Given the description of an element on the screen output the (x, y) to click on. 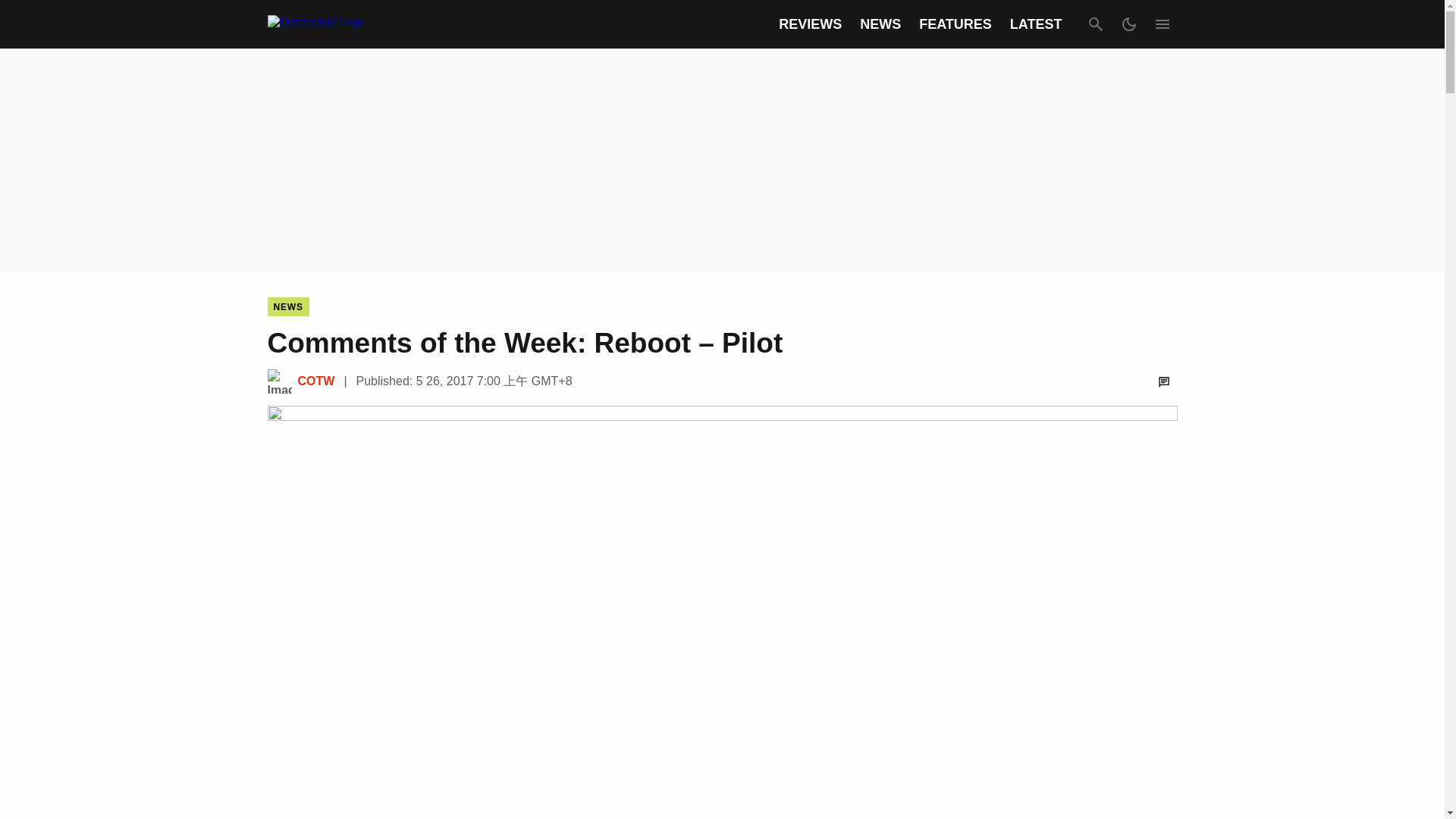
Search (1094, 24)
Expand Menu (1161, 24)
NEWS (880, 23)
LATEST (1036, 23)
Dark Mode (1127, 24)
REVIEWS (809, 23)
FEATURES (954, 23)
NEWS (287, 306)
